Given the description of an element on the screen output the (x, y) to click on. 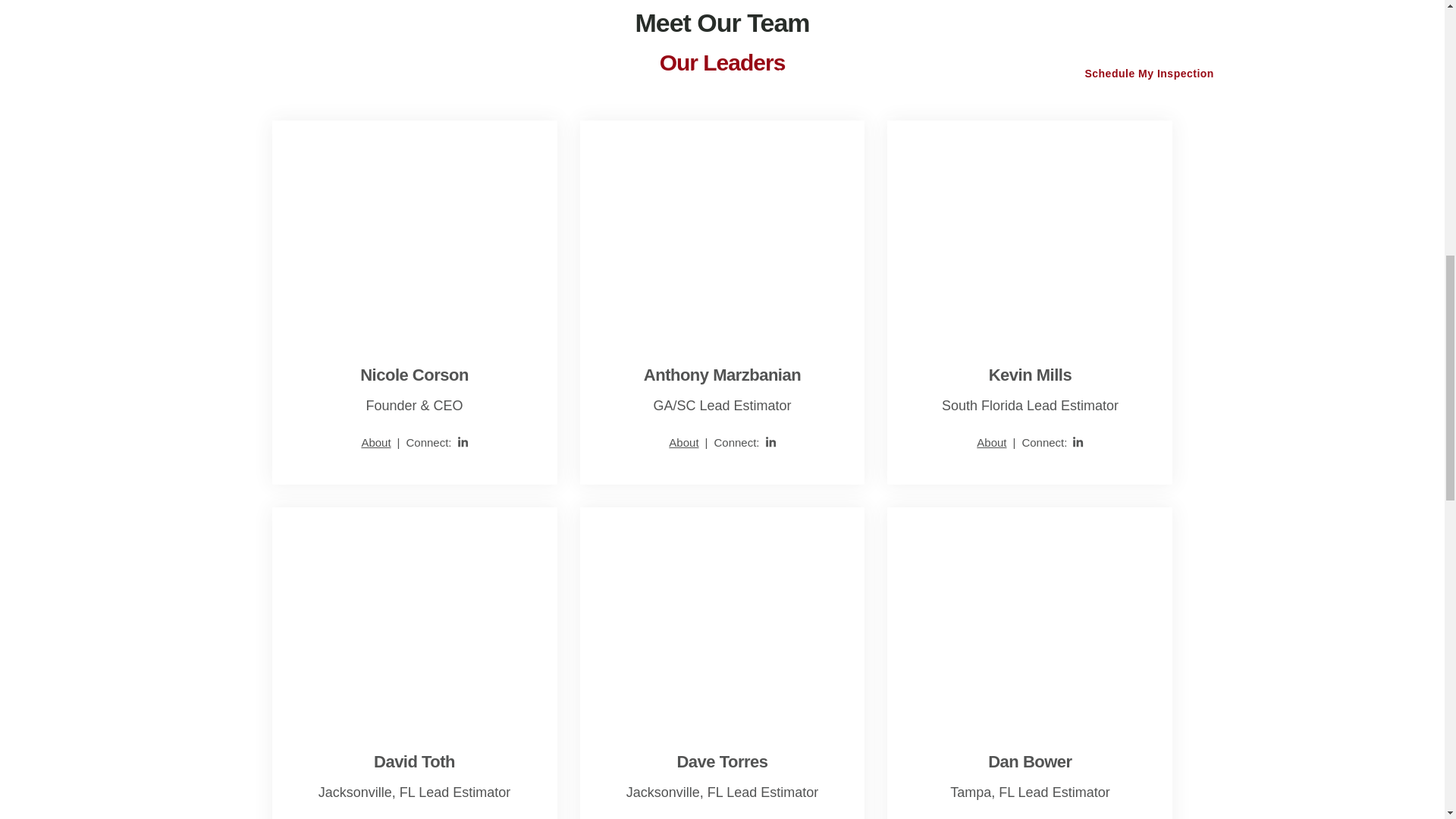
Learn more about David Toth (414, 613)
Learn more about Nicole Corson (414, 227)
Learn more about Nicole Corson (413, 374)
Learn more about Kevin Mills (1029, 227)
Learn more about Dave Torres (722, 761)
Learn more about Anthony Marzbanian (721, 227)
Learn more about Dave Torres (721, 613)
Learn more about Anthony Marzbanian (683, 441)
Learn more about Kevin Mills (991, 441)
Learn more about Nicole Corson (375, 441)
